Given the description of an element on the screen output the (x, y) to click on. 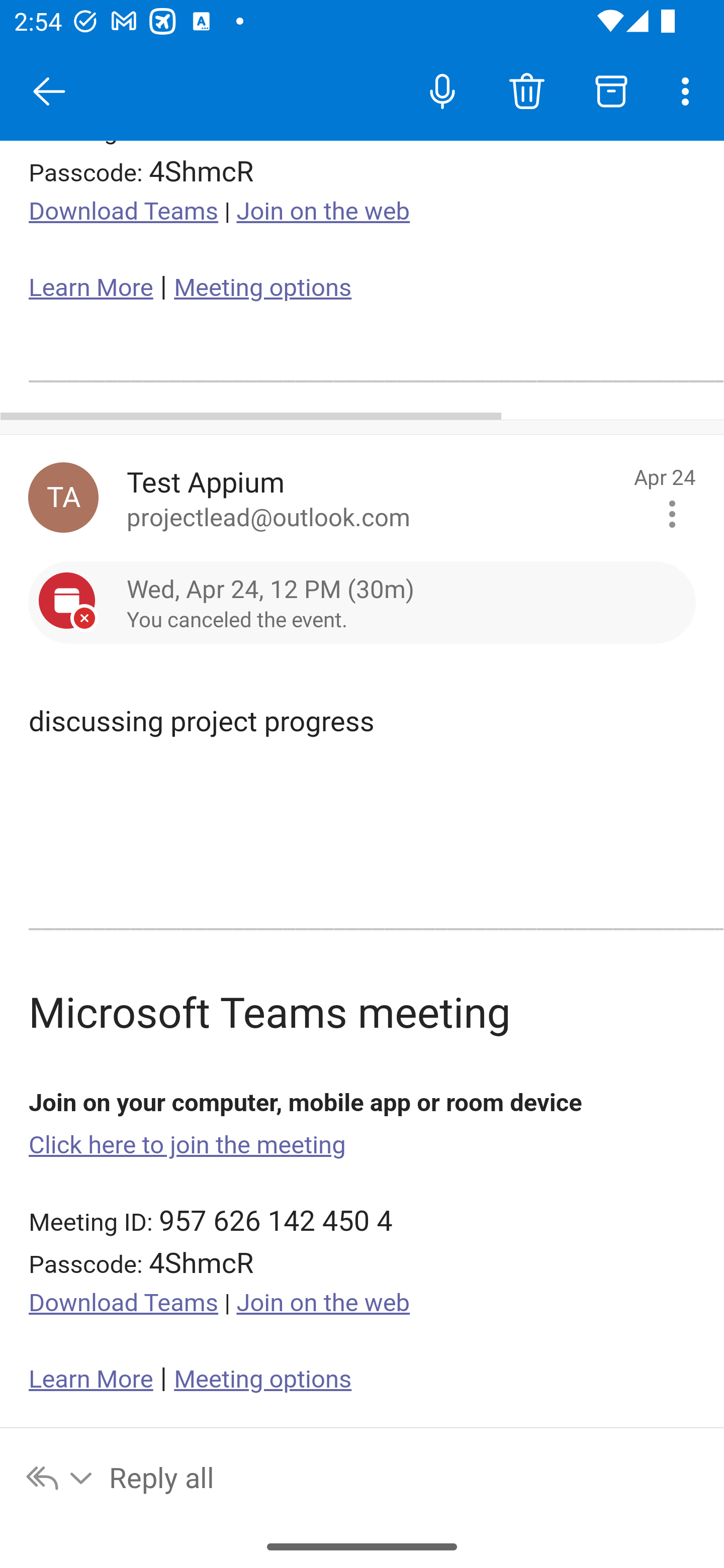
Close (49, 91)
Delete (526, 90)
Archive (611, 90)
More options (688, 90)
Download Teams (124, 210)
Join on the web (323, 210)
Learn More (90, 287)
Meeting options (262, 287)
Test Appium, testappium002@outlook.com (63, 497)
Test Appium
to projectlead@outlook.com (372, 497)
Message actions (671, 513)
Click here to join the meeting (187, 1144)
Download Teams (124, 1302)
Join on the web (323, 1302)
Learn More (90, 1379)
Meeting options (262, 1379)
Reply options (59, 1476)
